Given the description of an element on the screen output the (x, y) to click on. 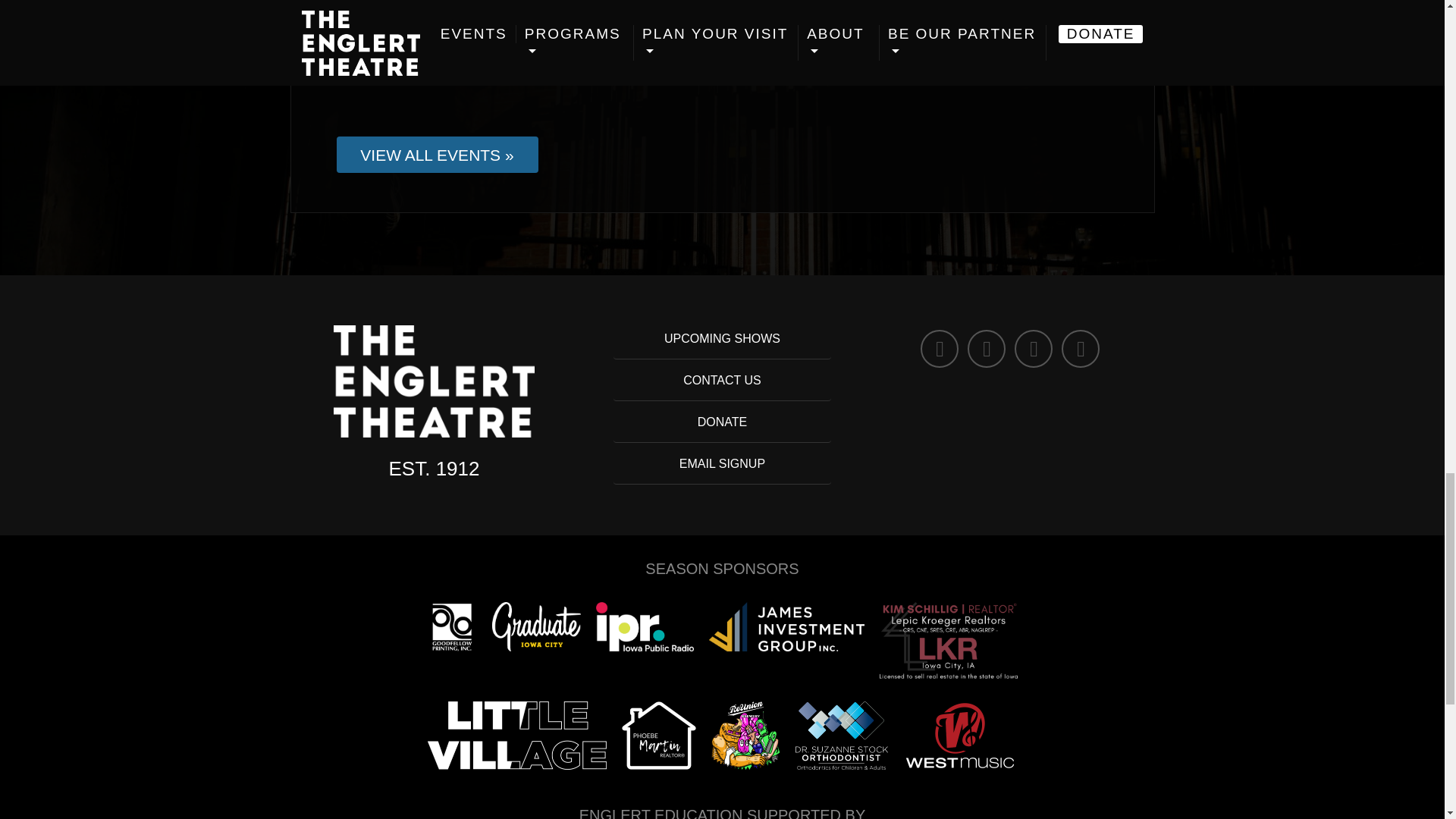
UPCOMING SHOWS (721, 338)
EST. 1912 (433, 468)
